Given the description of an element on the screen output the (x, y) to click on. 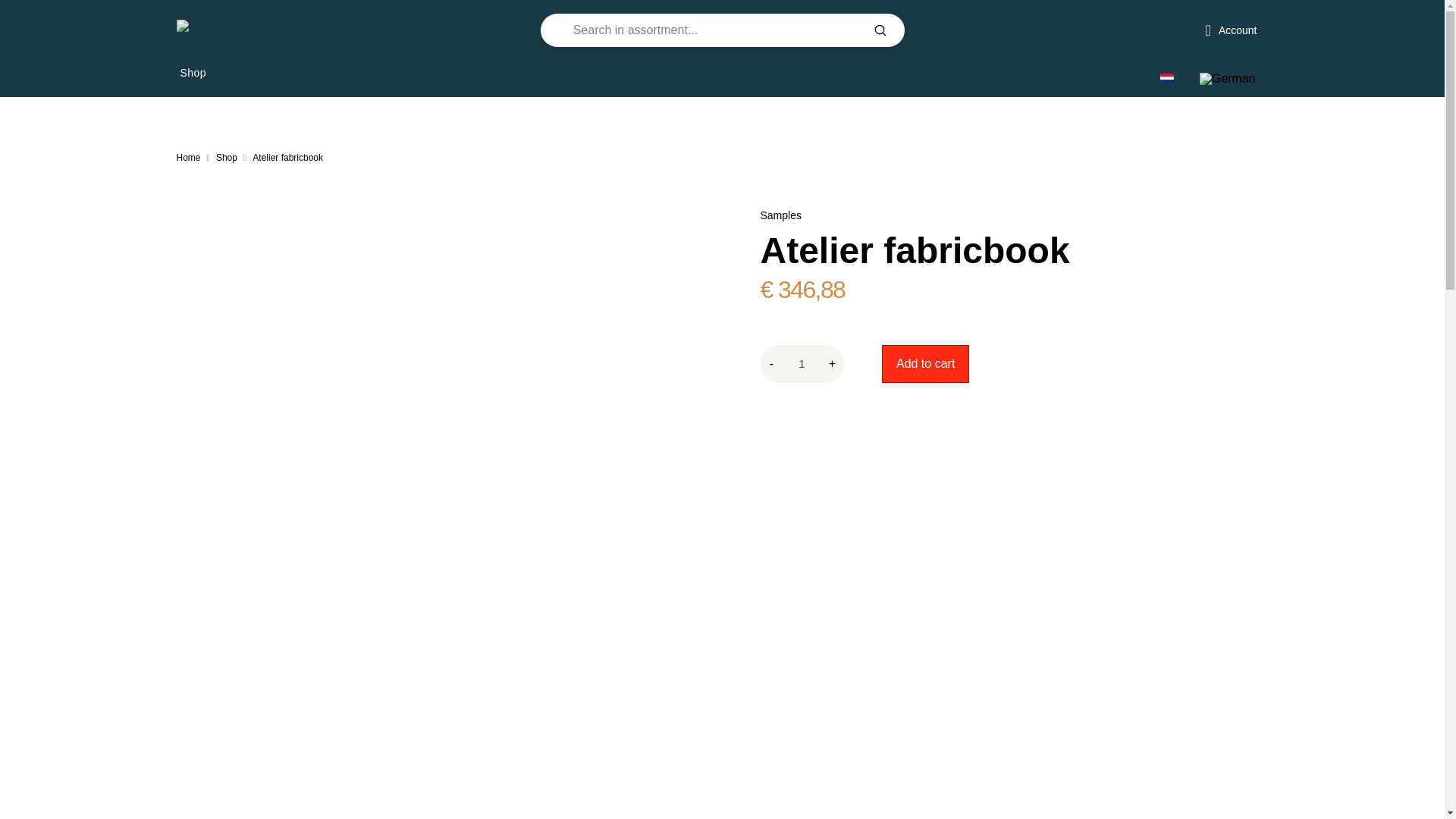
Account (1231, 29)
Shop (226, 158)
Home (188, 158)
Samples (780, 215)
Shop (200, 72)
Atelier fabricbook (287, 158)
Qty (802, 363)
Add to cart (925, 363)
1 (802, 363)
You Are Here (287, 158)
Submit (879, 30)
